Given the description of an element on the screen output the (x, y) to click on. 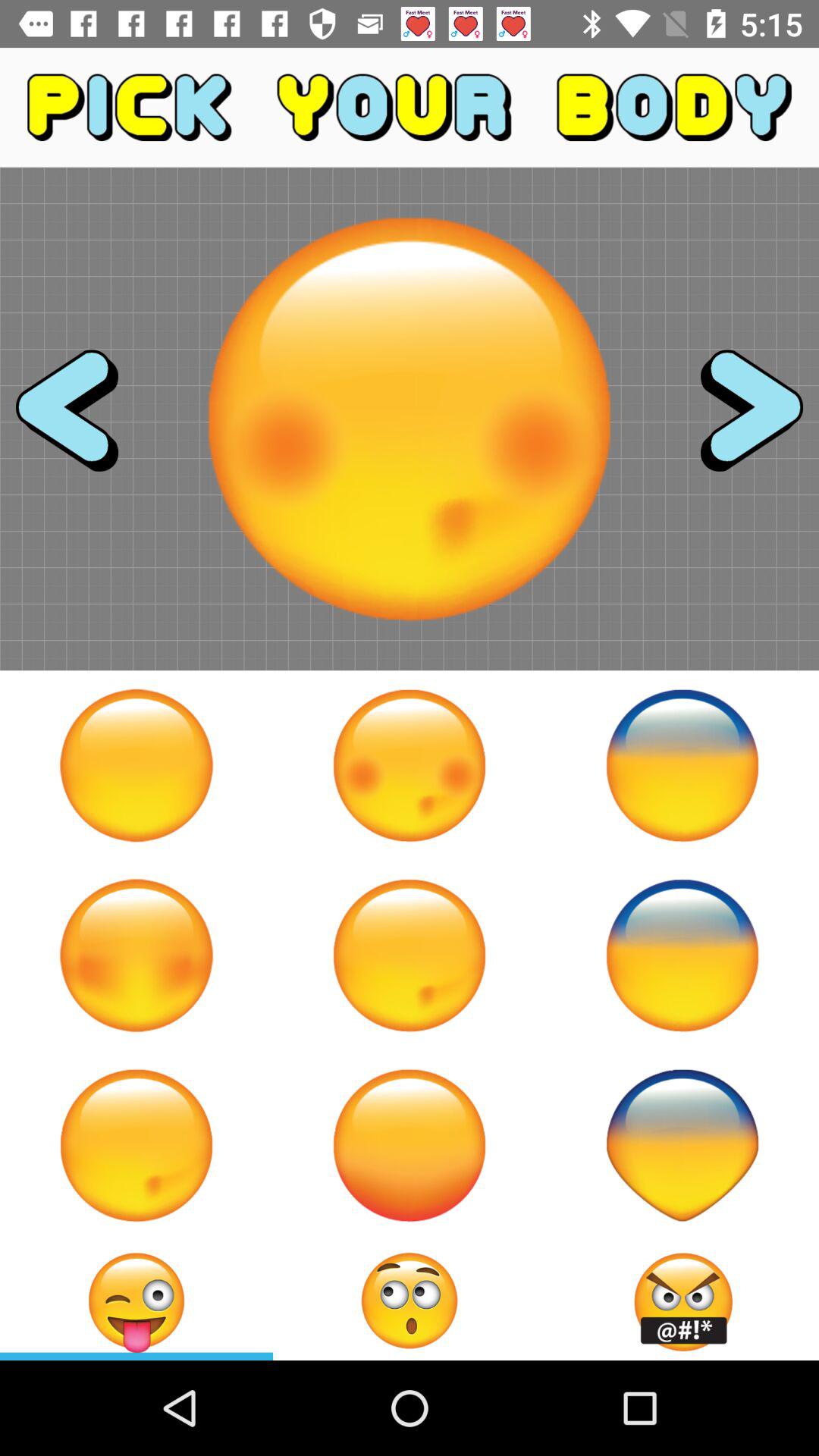
create emoticon (136, 1145)
